Given the description of an element on the screen output the (x, y) to click on. 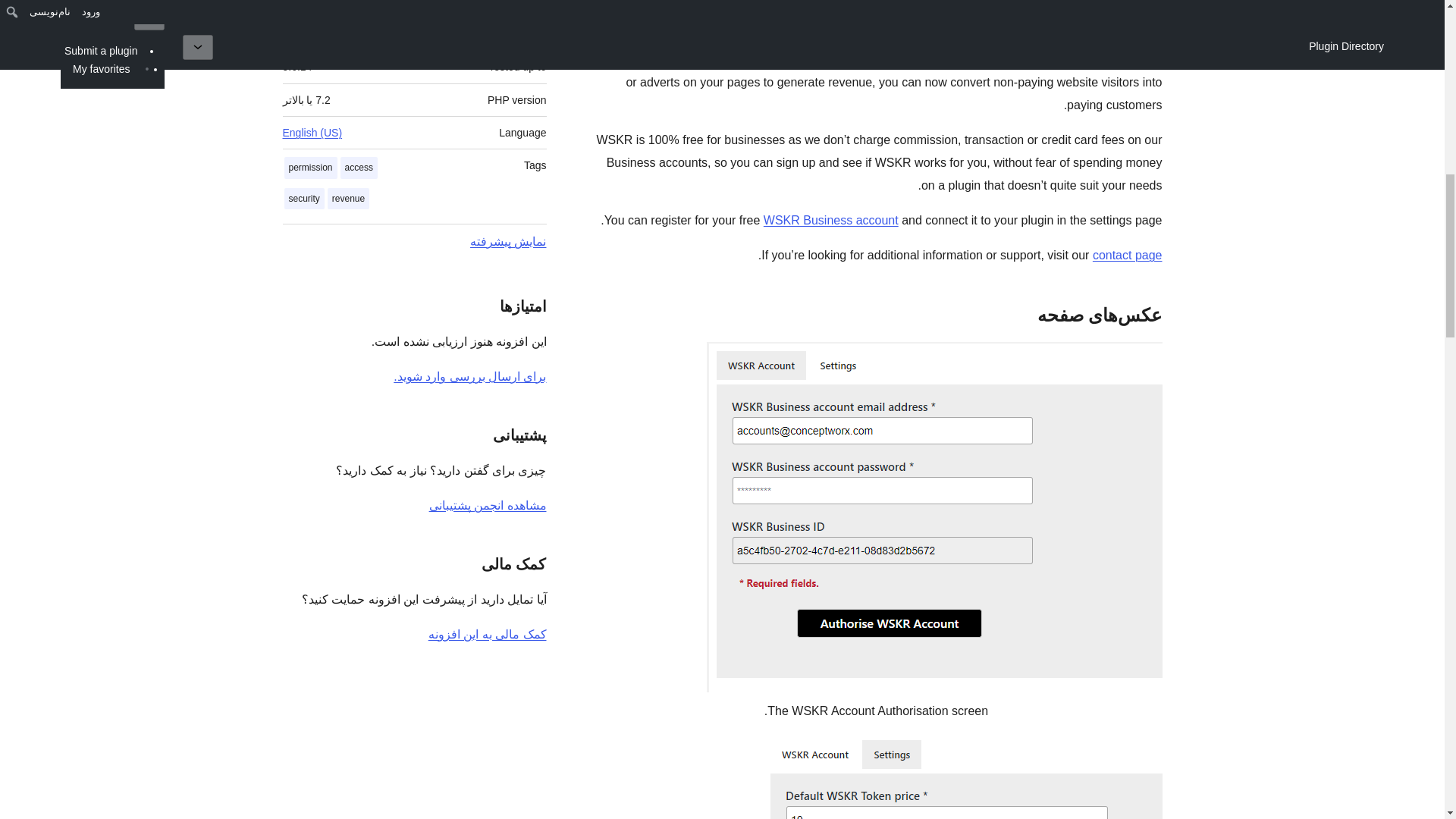
contact page (1127, 254)
WSKR Business account (779, 36)
WSKR Business account (830, 219)
